Given the description of an element on the screen output the (x, y) to click on. 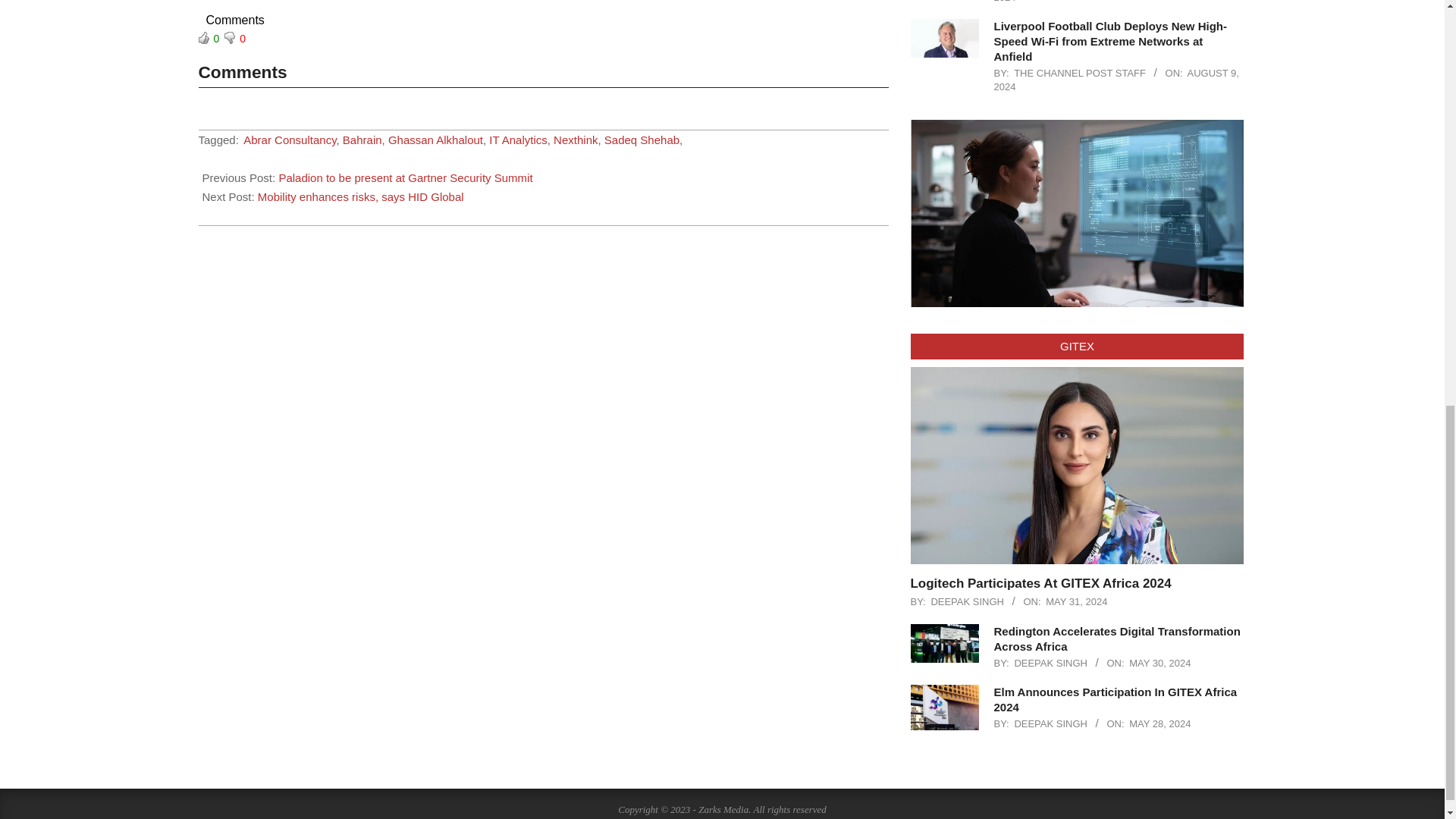
Friday, May 31, 2024, 2:40 pm (1075, 601)
Friday, August 9, 2024, 2:34 pm (1115, 1)
Posts by Deepak Singh (967, 601)
Friday, August 9, 2024, 1:34 pm (1115, 79)
Posts by The Channel Post Staff (1079, 72)
Posts by Deepak Singh (1050, 663)
